Given the description of an element on the screen output the (x, y) to click on. 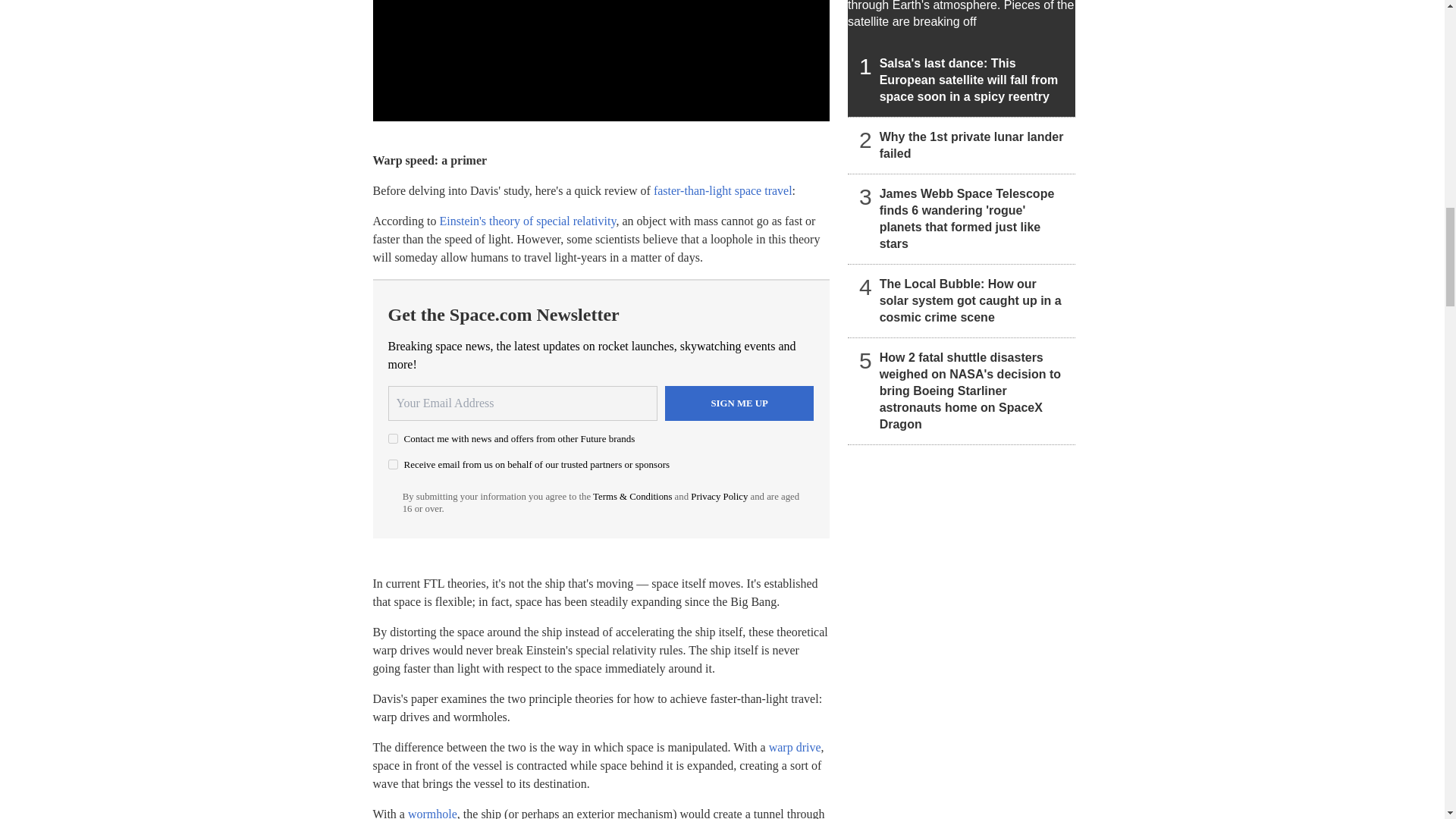
on (392, 464)
Sign me up (739, 402)
on (392, 438)
